Given the description of an element on the screen output the (x, y) to click on. 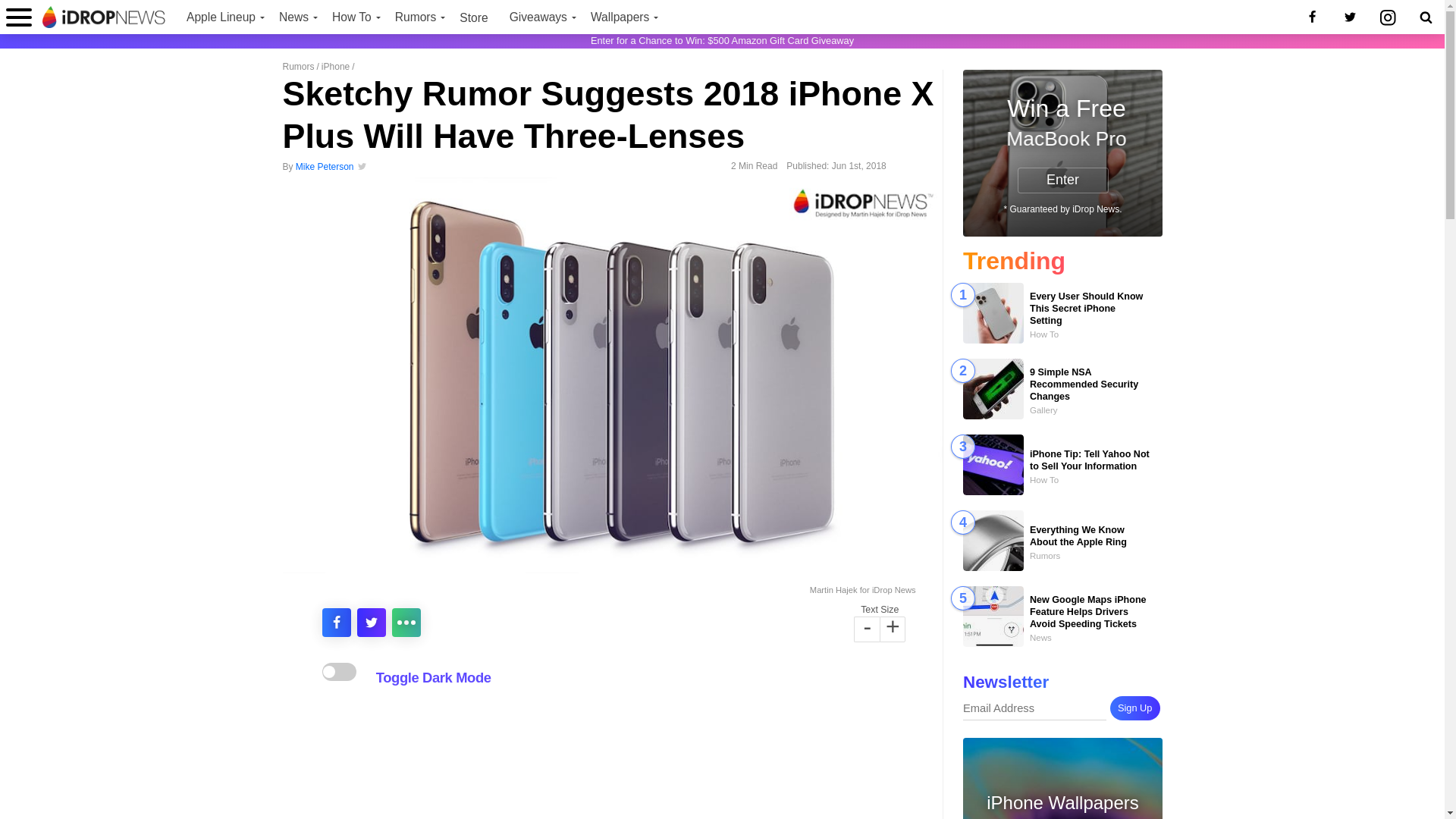
News (294, 17)
share on facebook (335, 622)
How To (352, 17)
Advertisement (612, 757)
click for more sharing options (405, 622)
Apple Lineup (221, 17)
Rumors (416, 17)
tweet this article (370, 622)
